Given the description of an element on the screen output the (x, y) to click on. 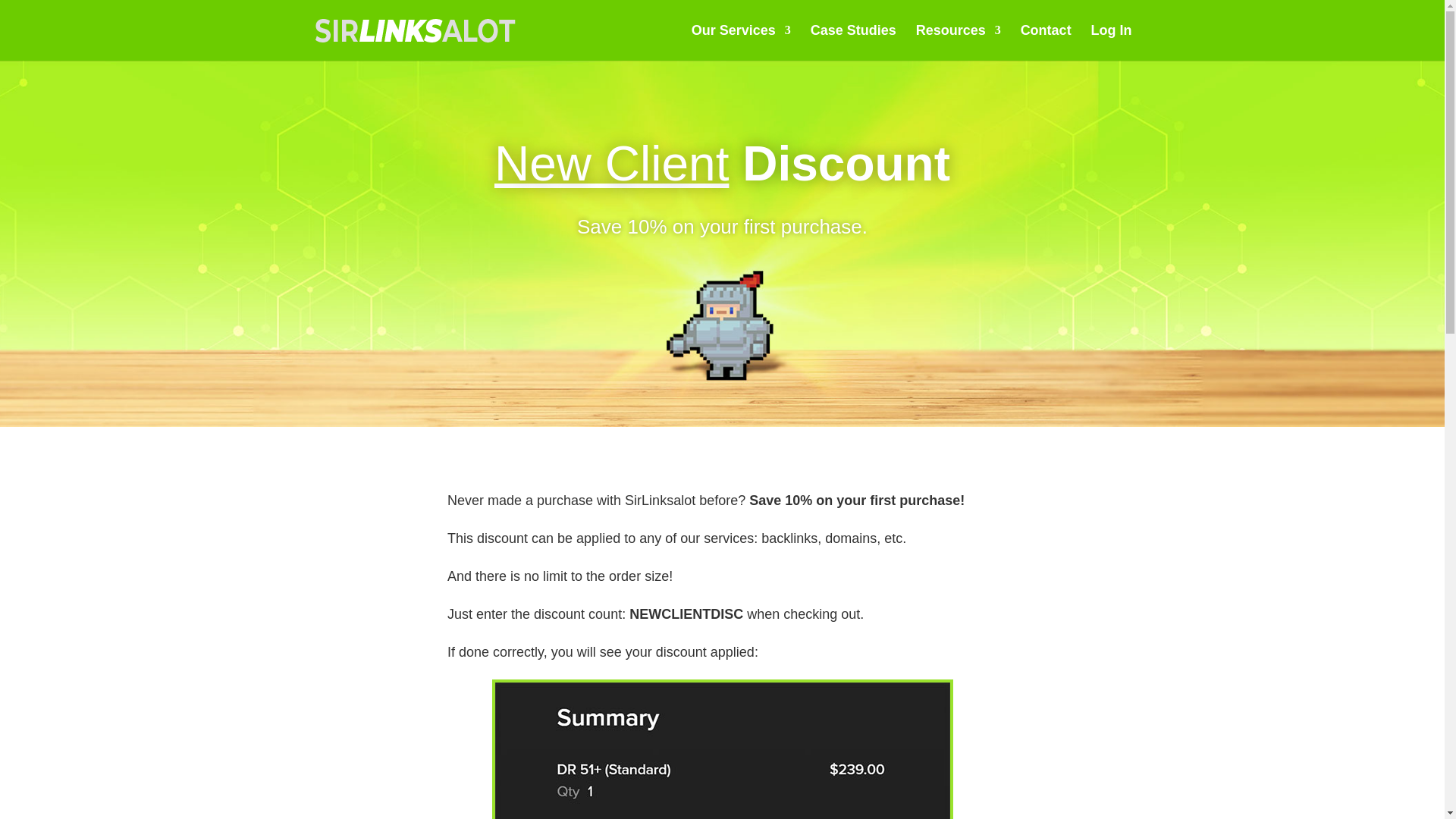
Log In (1111, 42)
Case Studies (853, 42)
Resources (958, 42)
Contact (1045, 42)
Our Services (740, 42)
new-client-discount-success (722, 750)
